Given the description of an element on the screen output the (x, y) to click on. 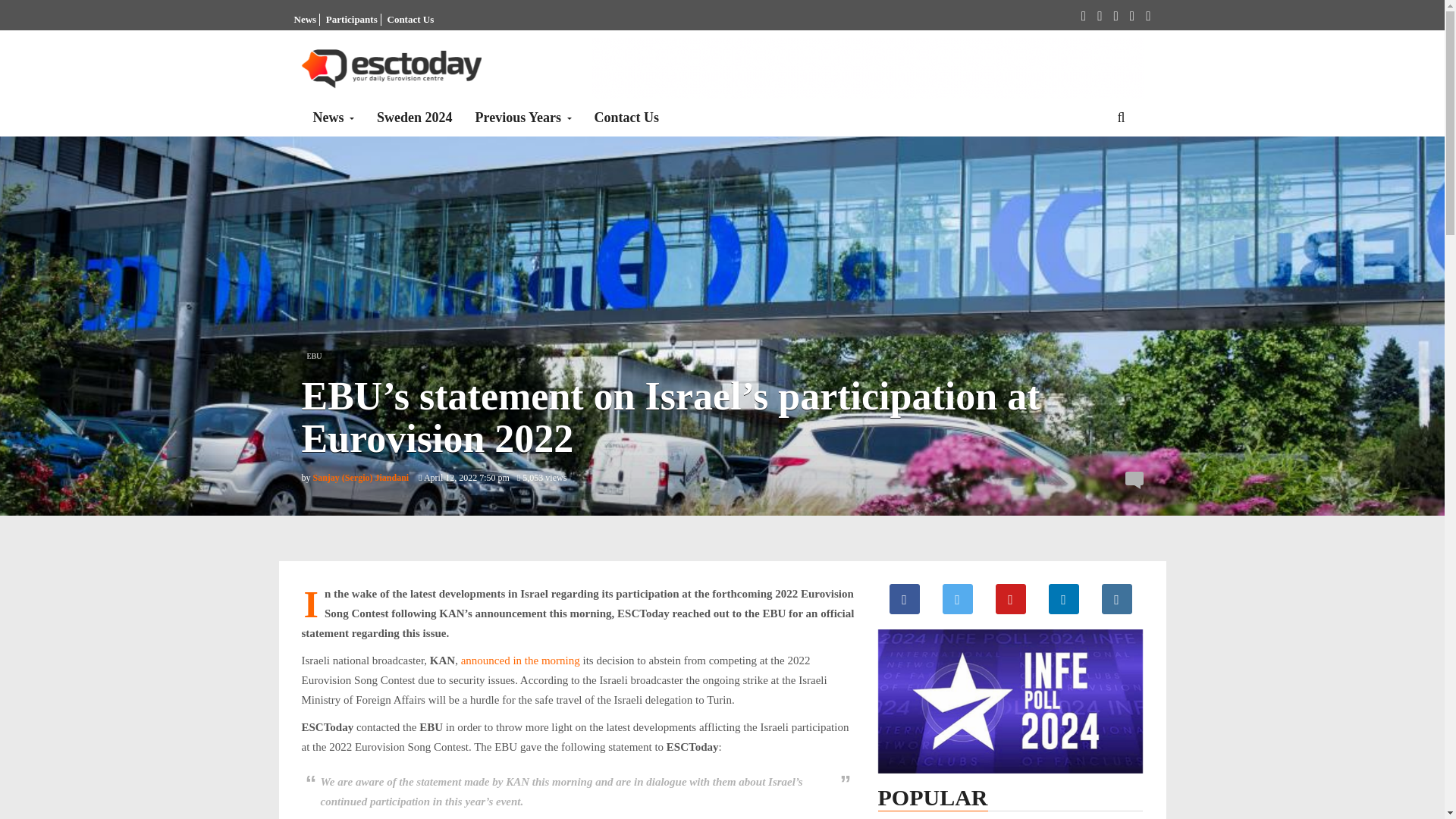
News (333, 117)
3rd party ad content (866, 71)
Participants (351, 19)
News (305, 19)
Contact Us (410, 19)
